Given the description of an element on the screen output the (x, y) to click on. 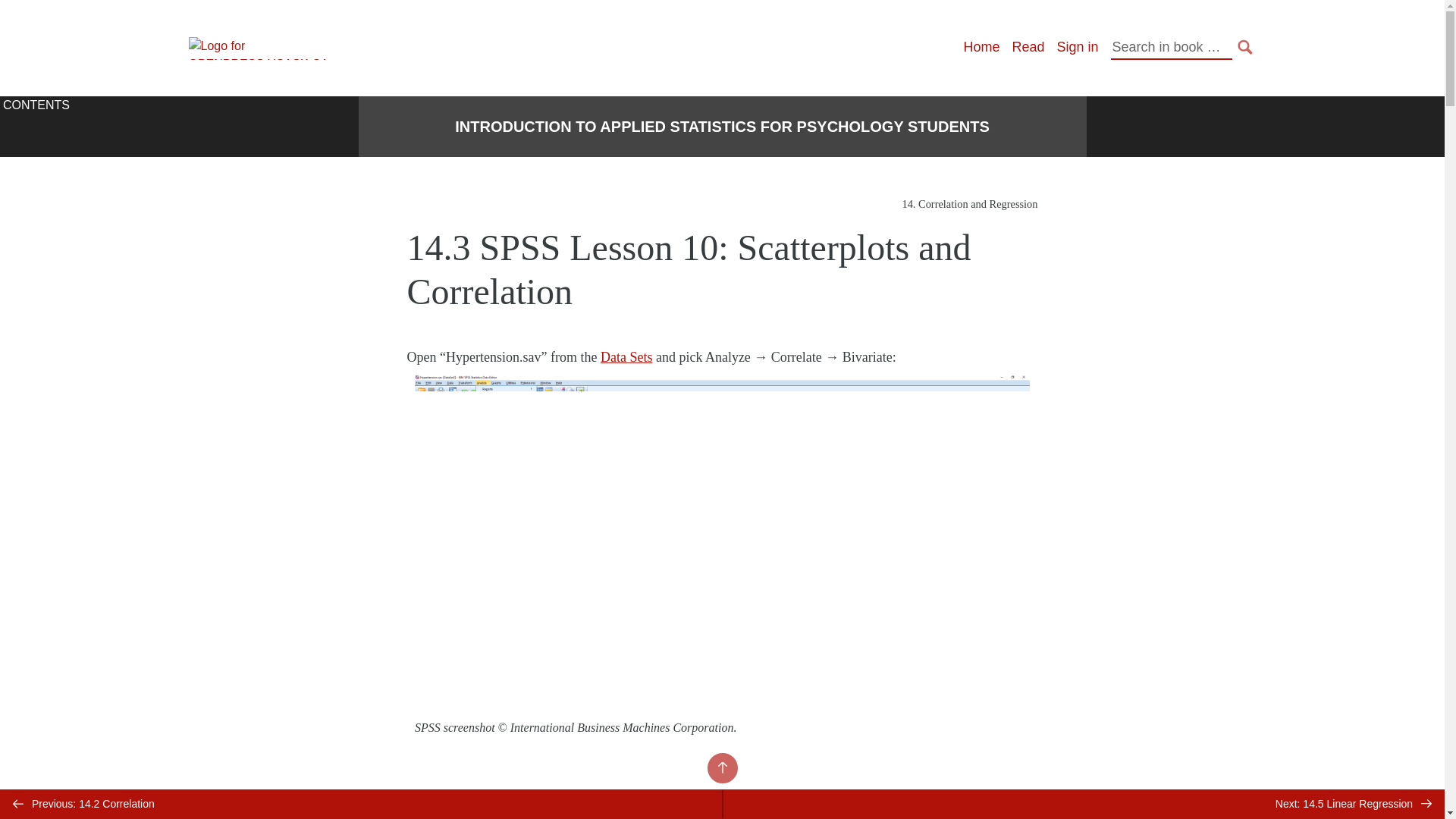
Read (1027, 46)
Home (980, 46)
Previous: 14.2 Correlation (361, 804)
Sign in (1077, 46)
BACK TO TOP (721, 767)
Previous: 14.2 Correlation (361, 804)
Data Sets (625, 356)
INTRODUCTION TO APPLIED STATISTICS FOR PSYCHOLOGY STUDENTS (721, 126)
